Given the description of an element on the screen output the (x, y) to click on. 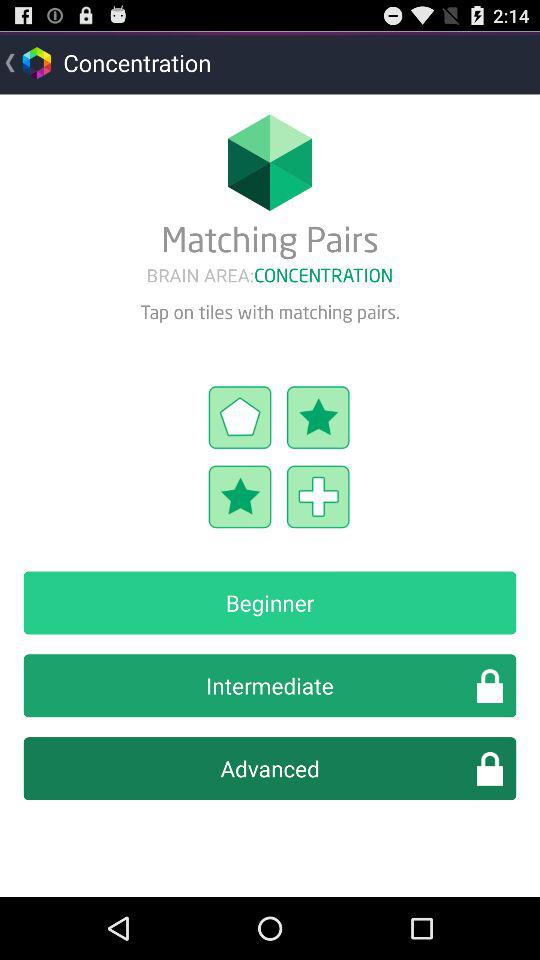
press beginner (269, 602)
